Given the description of an element on the screen output the (x, y) to click on. 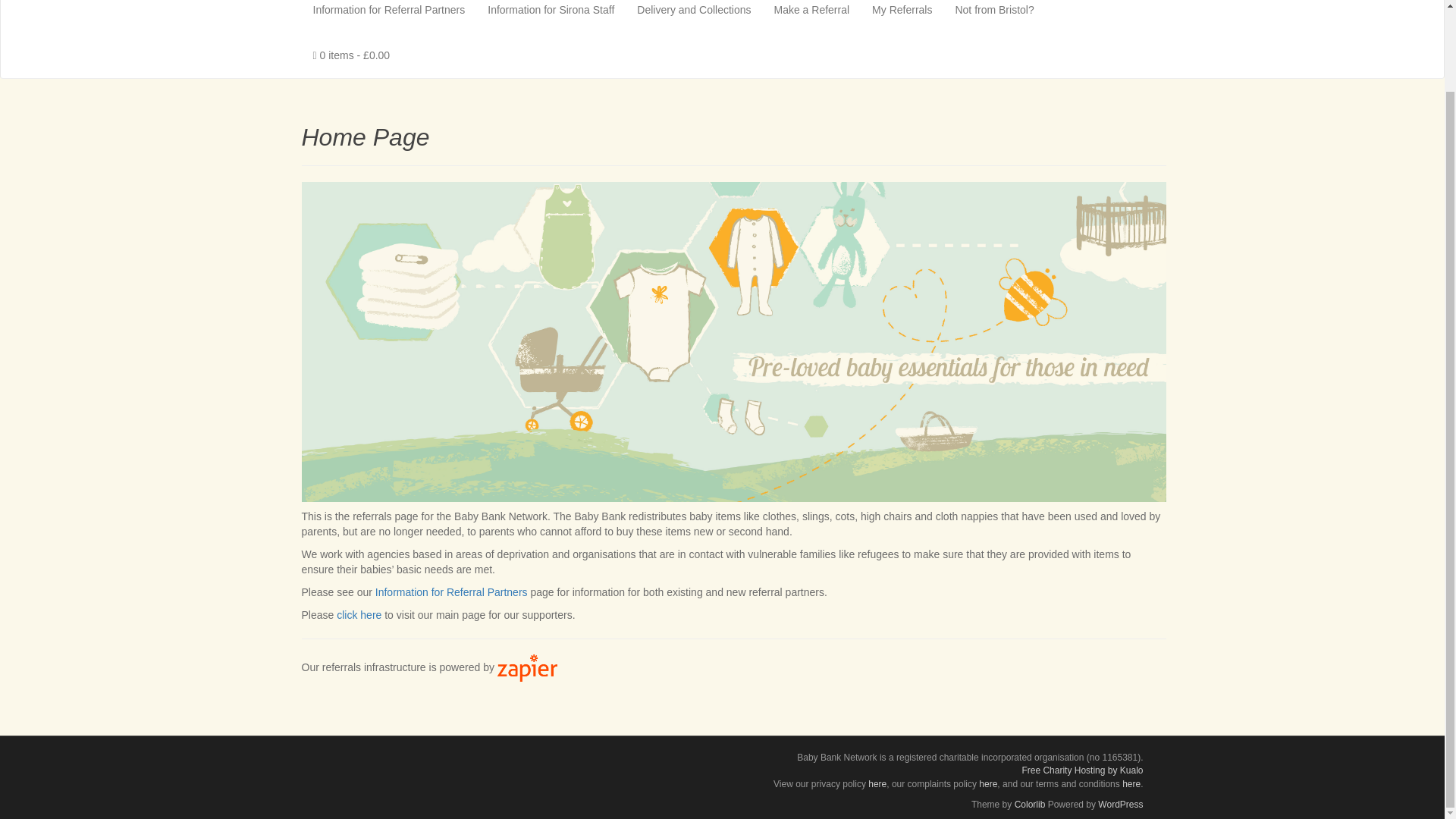
Start shopping (351, 54)
Not from Bristol? (994, 16)
Information for Sirona Staff (551, 16)
Delivery and Collections (693, 16)
click here (358, 614)
Make a Referral (811, 16)
Information for Referral Partners (389, 16)
My Referrals (901, 16)
Delivery and Collections (693, 16)
Make a Referral (811, 16)
WordPress (1119, 804)
Colorlib (1029, 804)
Not from Bristol? (994, 16)
Free Charity Hosting by Kualo (1082, 769)
Information for Sirona Staff (551, 16)
